Given the description of an element on the screen output the (x, y) to click on. 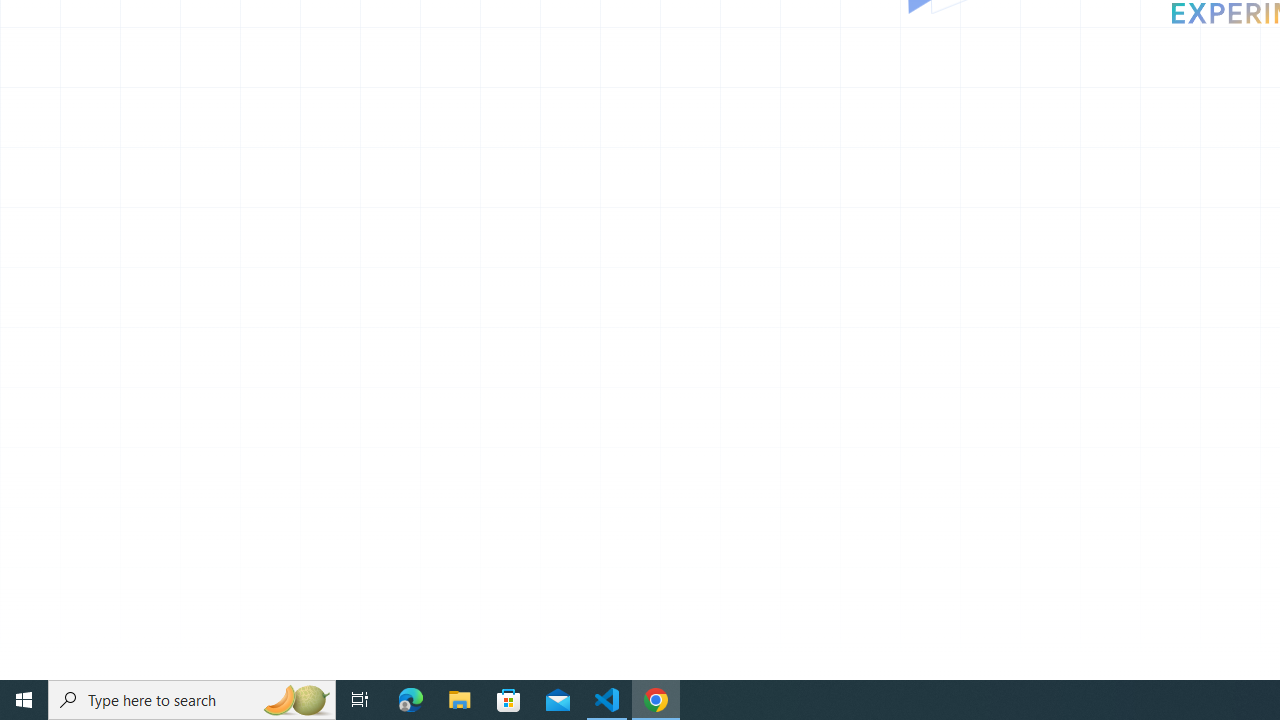
Easy (1148, 650)
Easy (1148, 649)
